Given the description of an element on the screen output the (x, y) to click on. 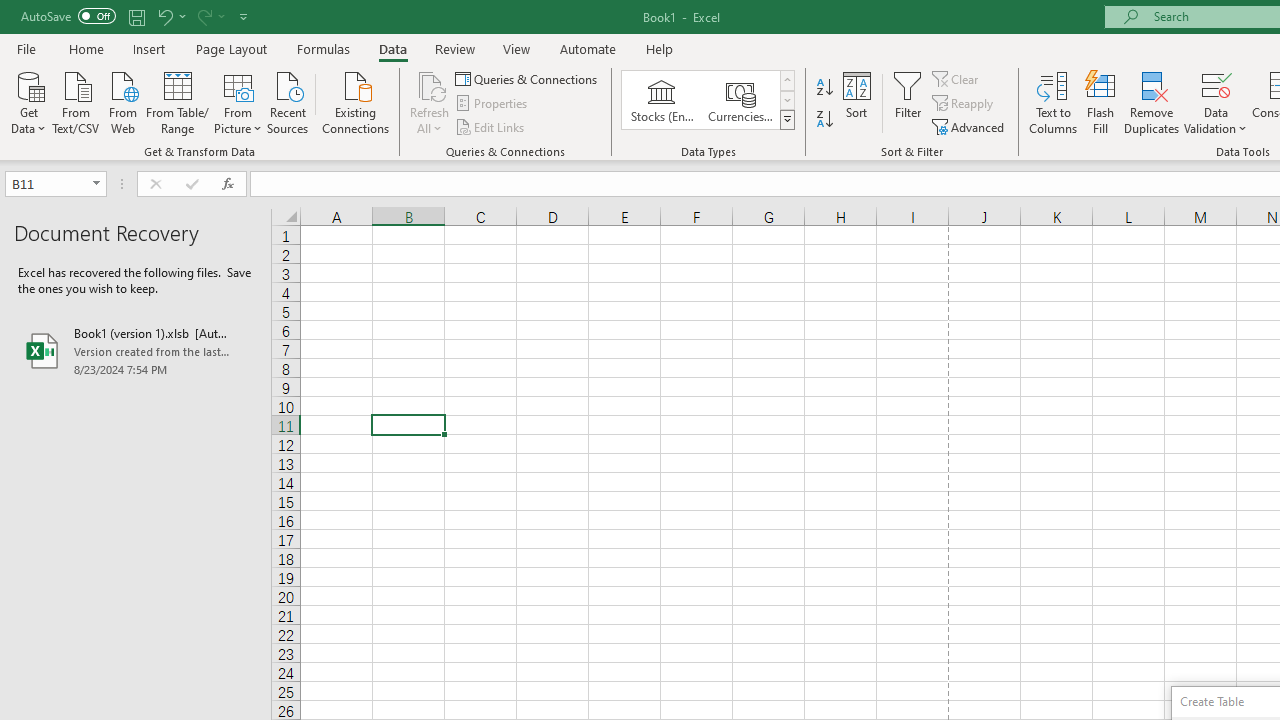
View (517, 48)
Open (96, 183)
Customize Quick Access Toolbar (244, 15)
Quick Access Toolbar (136, 16)
Review (454, 48)
Sort A to Z (824, 87)
Filter (908, 102)
Advanced... (970, 126)
Save (136, 15)
Help (660, 48)
AutoSave (68, 16)
Data Validation... (1215, 102)
